Given the description of an element on the screen output the (x, y) to click on. 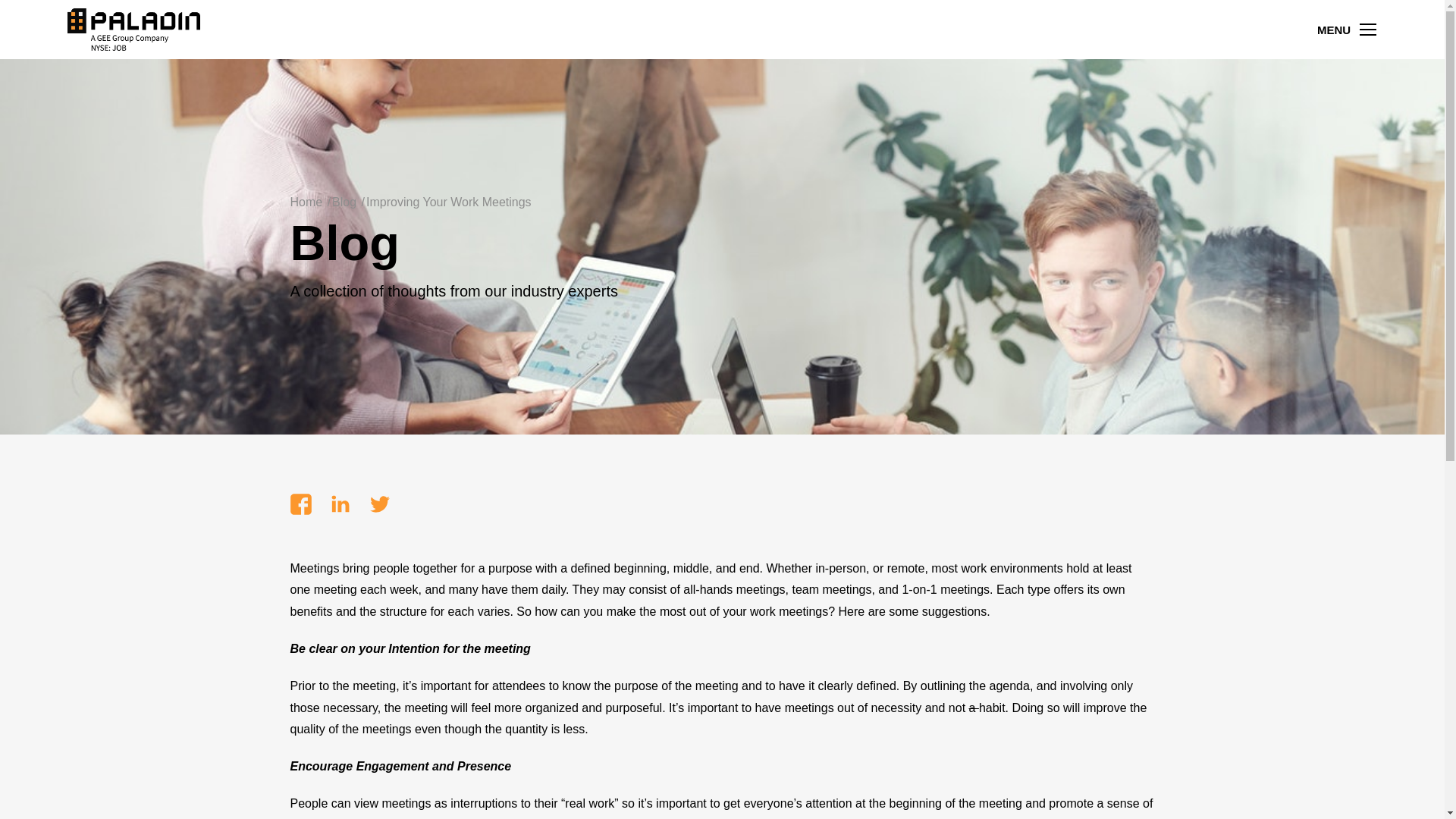
facebook (300, 510)
Blog (341, 201)
twitter (379, 510)
Improving Your Work Meetings (445, 201)
Home (305, 201)
LinkedIn (340, 510)
